Given the description of an element on the screen output the (x, y) to click on. 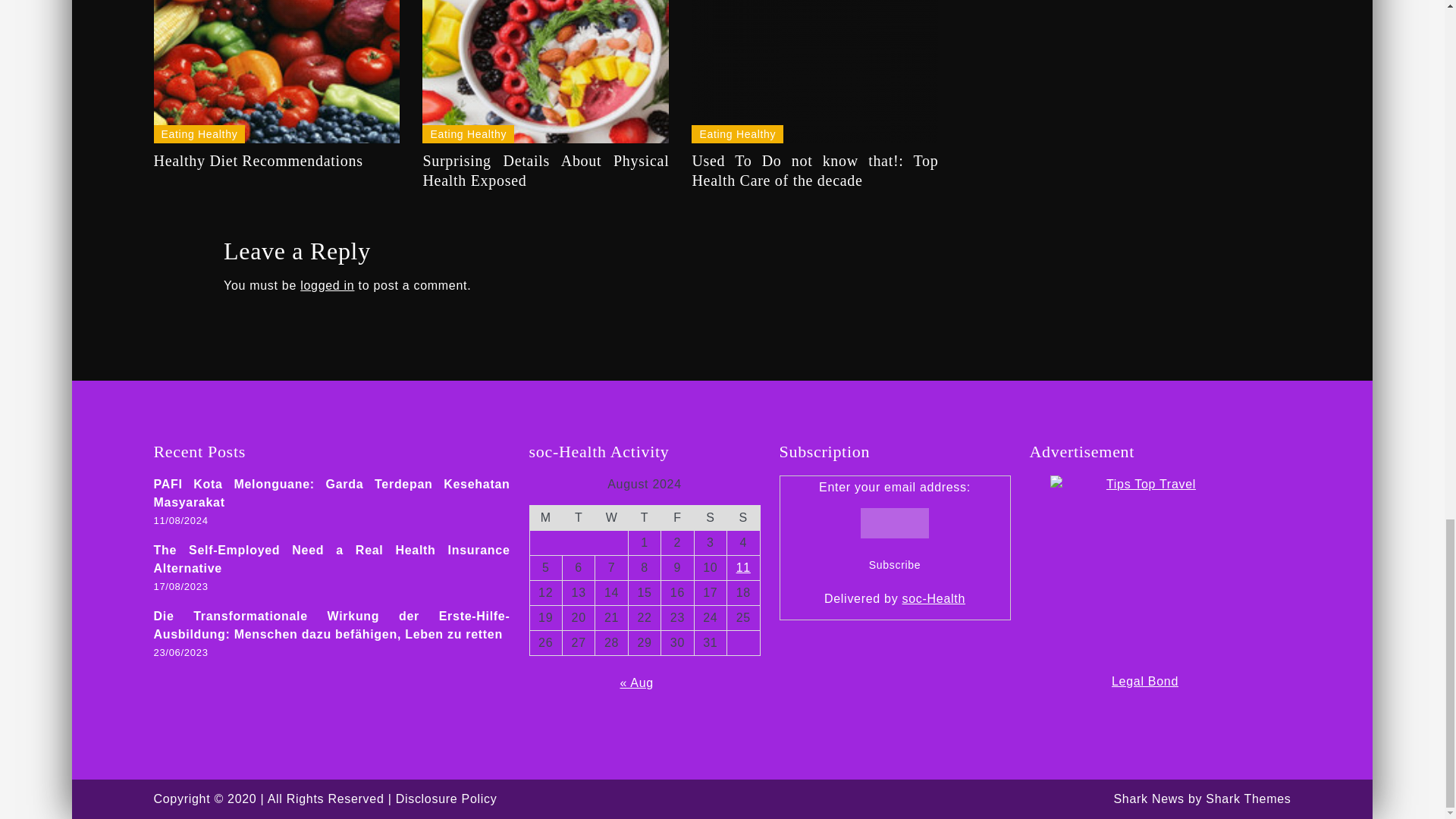
Wednesday (611, 517)
Surprising Details About Physical Health Exposed (545, 71)
Healthy Diet Recommendations (275, 71)
Subscribe (895, 564)
Monday (545, 517)
Tuesday (578, 517)
Used To Do not know that!: Top Health Care of the decade (814, 71)
